Given the description of an element on the screen output the (x, y) to click on. 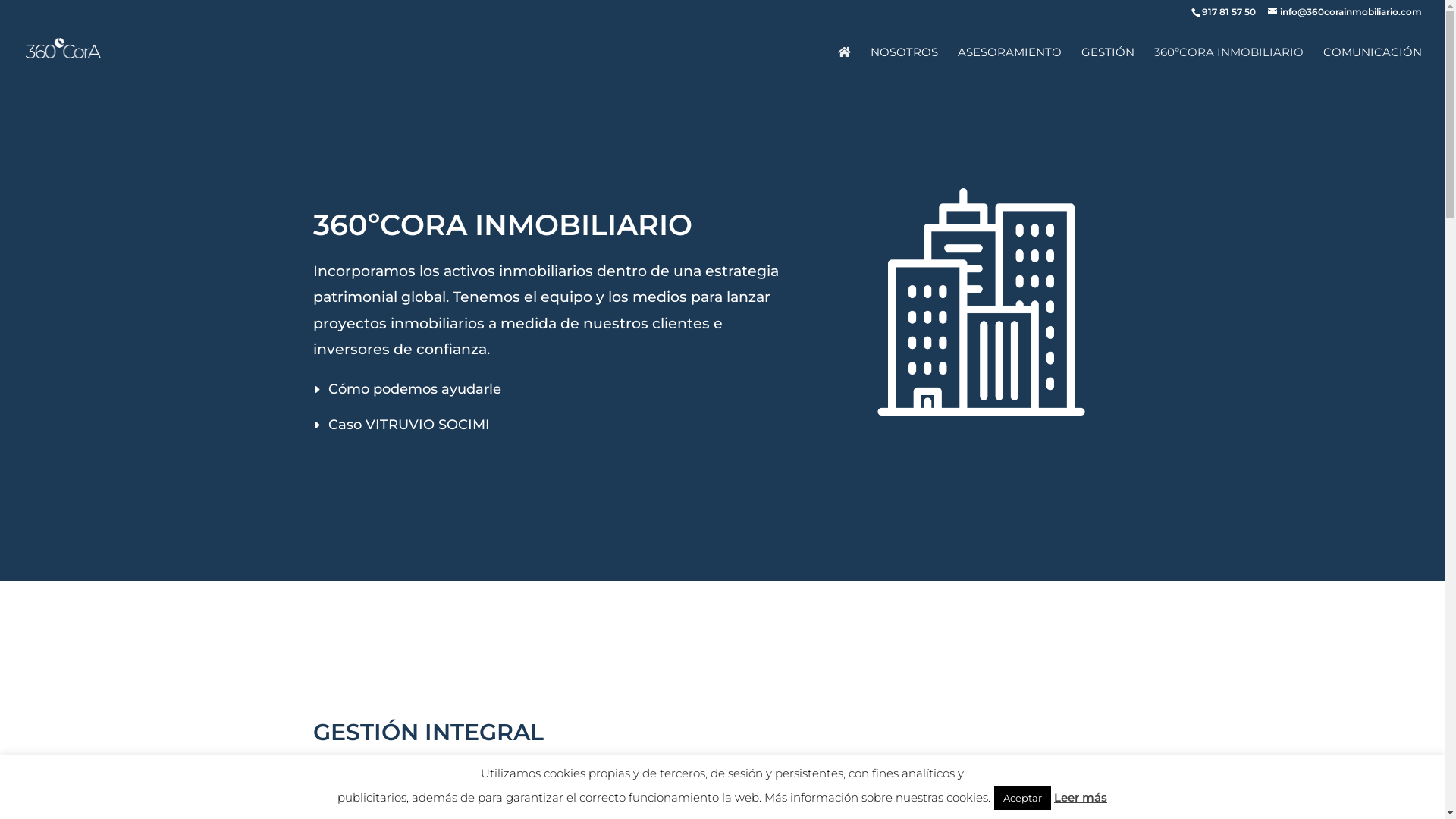
info@360corainmobiliario.com Element type: text (1344, 11)
Caso VITRUVIO SOCIMI Element type: text (548, 423)
NOSOTROS Element type: text (904, 63)
ASESORAMIENTO Element type: text (1009, 63)
Aceptar Element type: text (1022, 797)
